Given the description of an element on the screen output the (x, y) to click on. 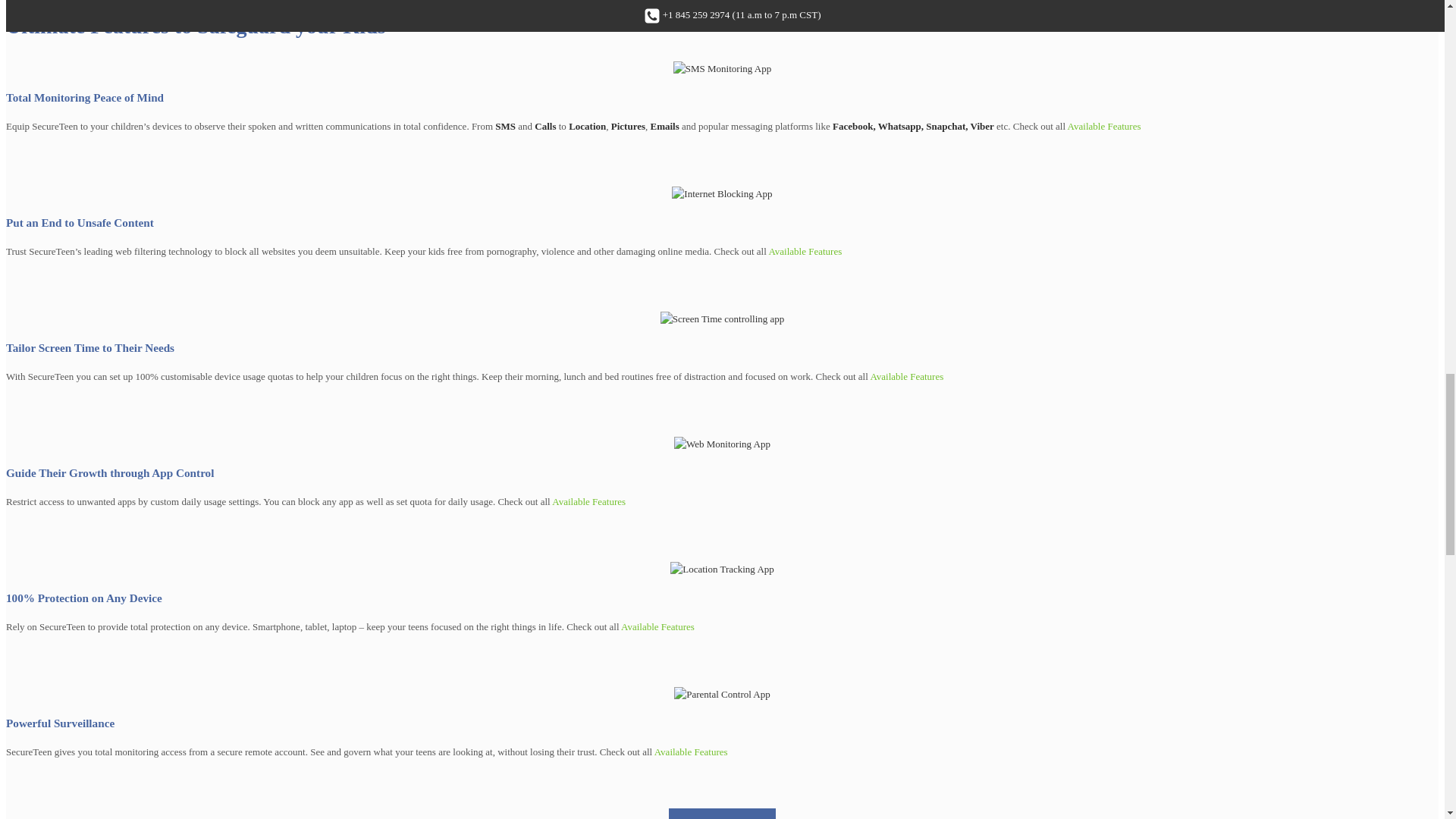
Available Features (1104, 125)
Try it Free (722, 813)
Available Features (588, 501)
Available Features (804, 251)
Available Features (906, 376)
Available Features (690, 751)
Available Features (657, 626)
